Given the description of an element on the screen output the (x, y) to click on. 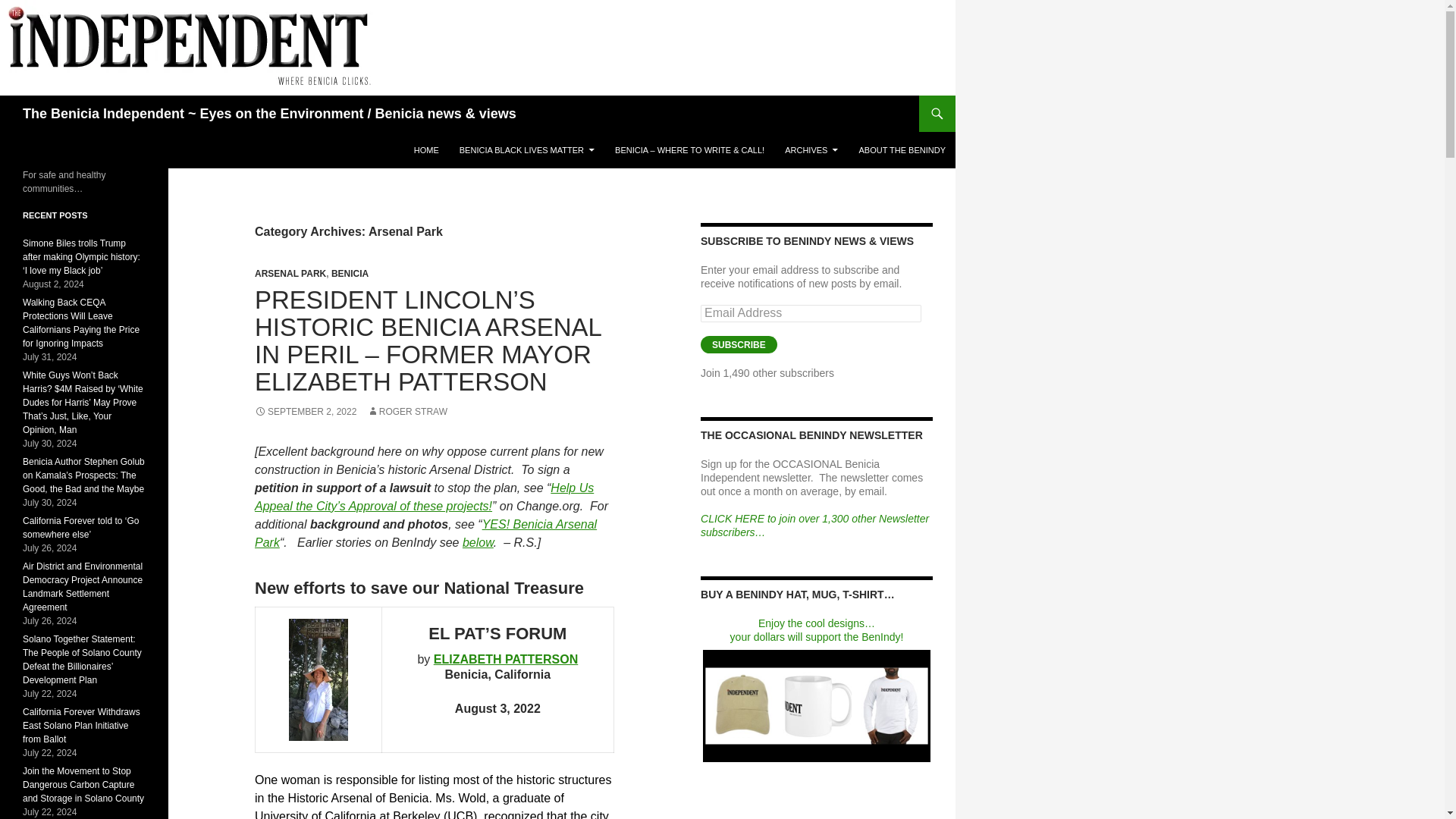
ARCHIVES (811, 149)
HOME (426, 149)
BENICIA BLACK LIVES MATTER (526, 149)
